Given the description of an element on the screen output the (x, y) to click on. 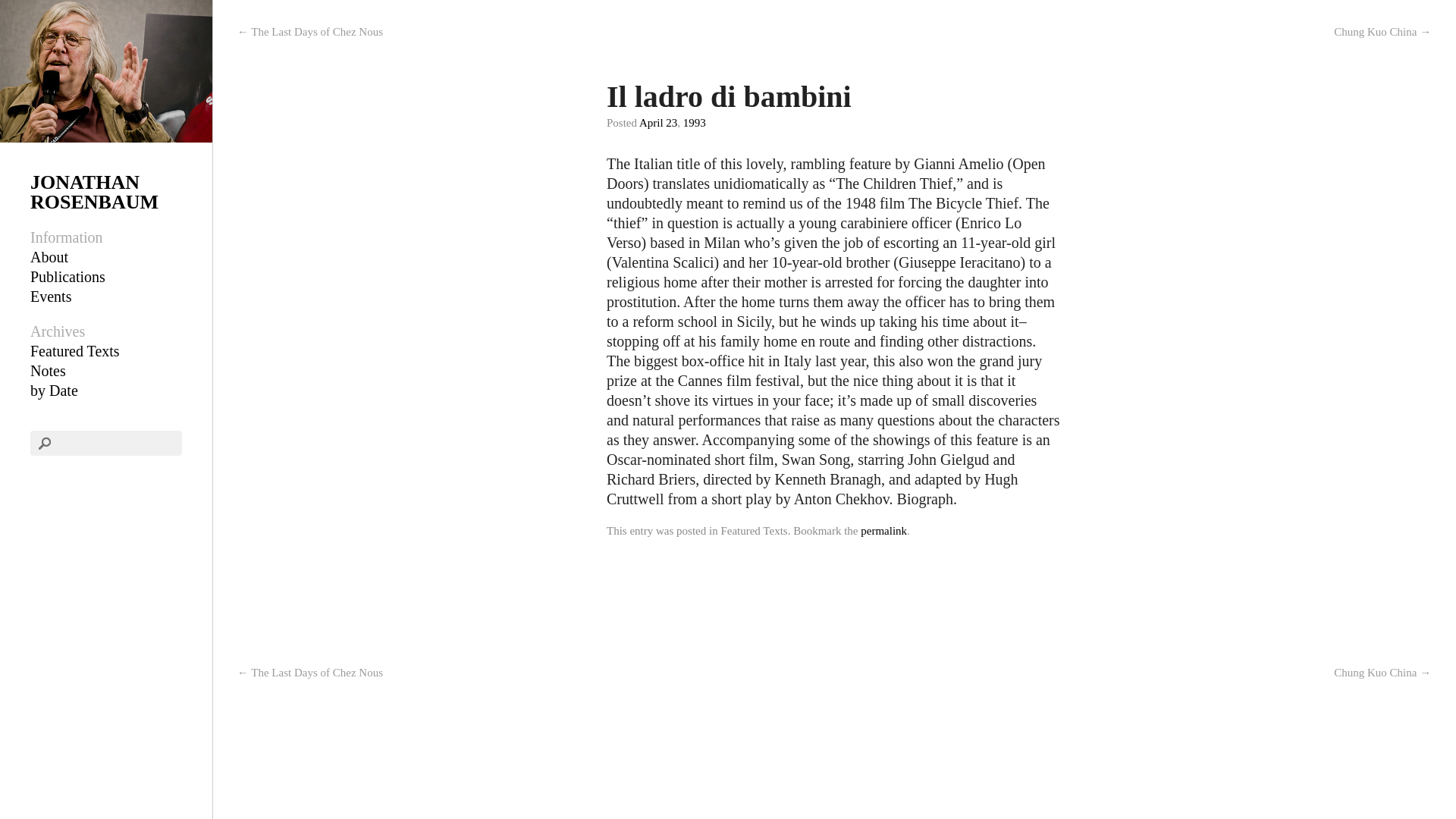
Featured Texts (74, 351)
View Archives for 1993 (694, 122)
23 (671, 122)
Search (29, 11)
by Date (54, 390)
JONATHAN ROSENBAUM (94, 191)
permalink (883, 530)
Events (50, 296)
Publications (67, 276)
View Archives for April 23 1993 (671, 122)
Jonathan Rosenbaum (94, 191)
Permalink to Il ladro di bambini (883, 530)
1993 (694, 122)
Notes (47, 370)
April (651, 122)
